Given the description of an element on the screen output the (x, y) to click on. 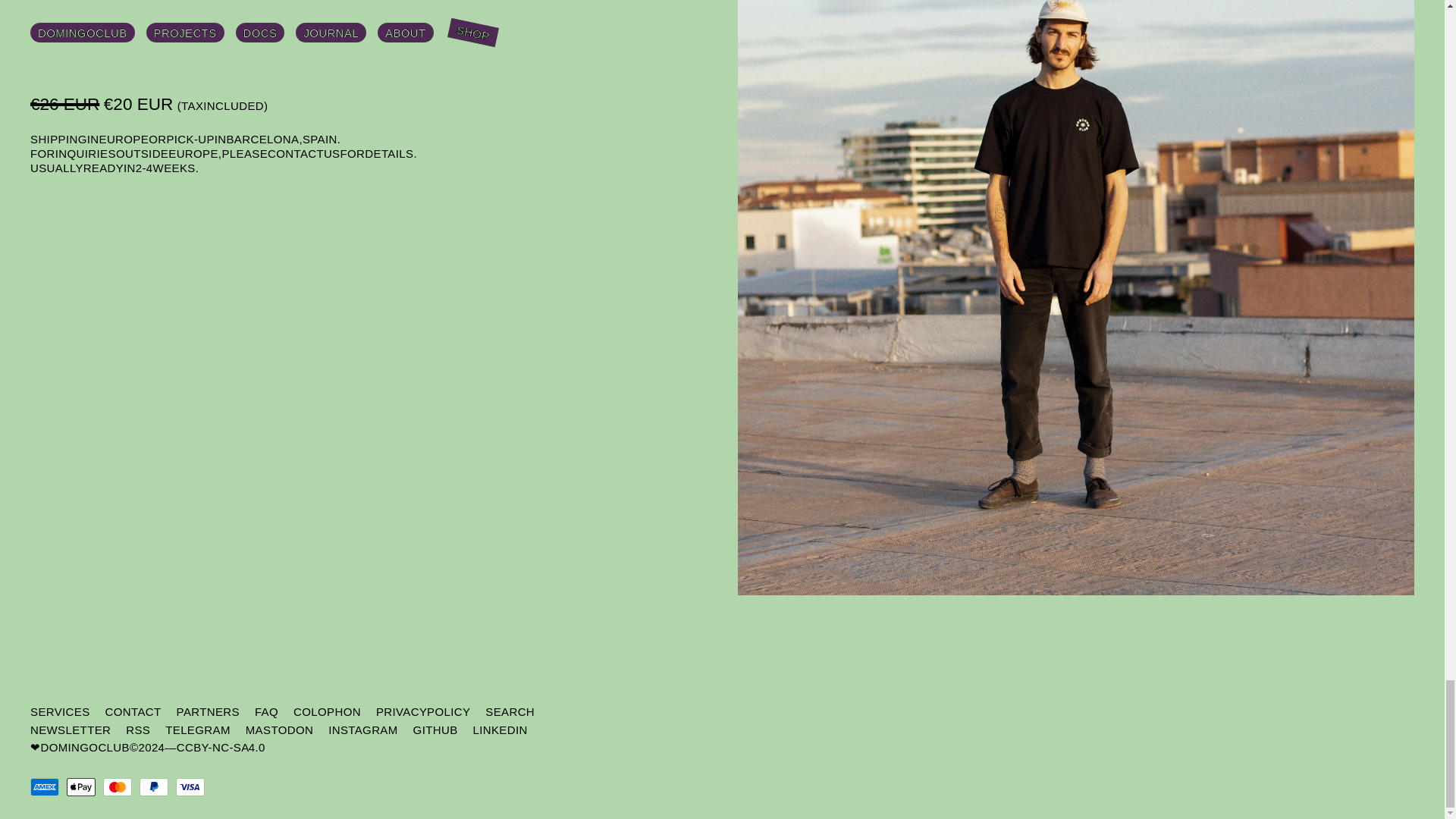
COLOPHON (327, 712)
CONTACT (132, 712)
GITHUB (435, 729)
CC BY-NC-SA 4.0 (220, 747)
LINKEDIN (500, 729)
FAQ (266, 712)
SERVICES (60, 712)
PRIVACY POLICY (422, 712)
MASTODON (279, 729)
NEWSLETTER (70, 729)
